Given the description of an element on the screen output the (x, y) to click on. 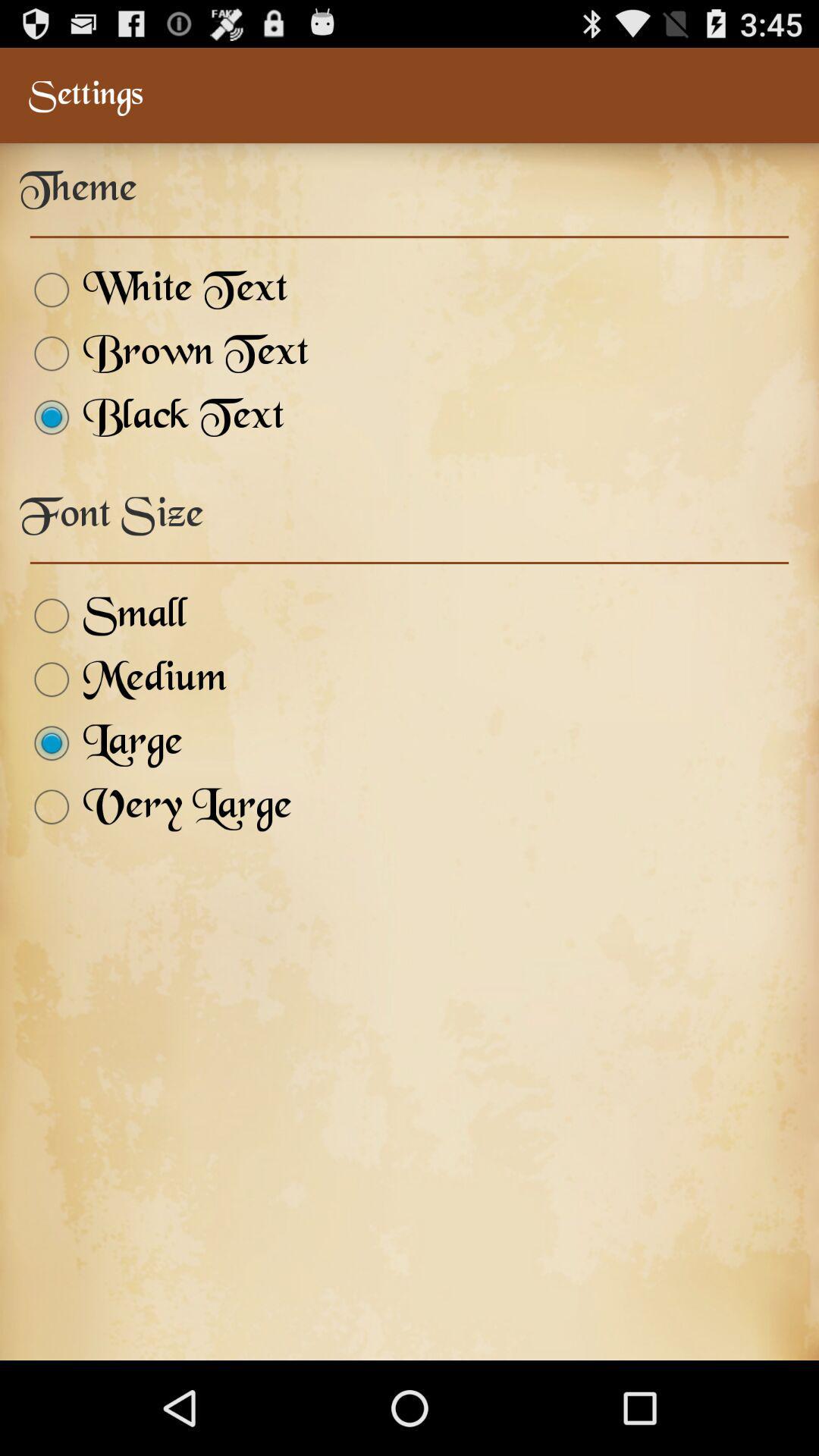
tap item below brown text item (151, 417)
